Given the description of an element on the screen output the (x, y) to click on. 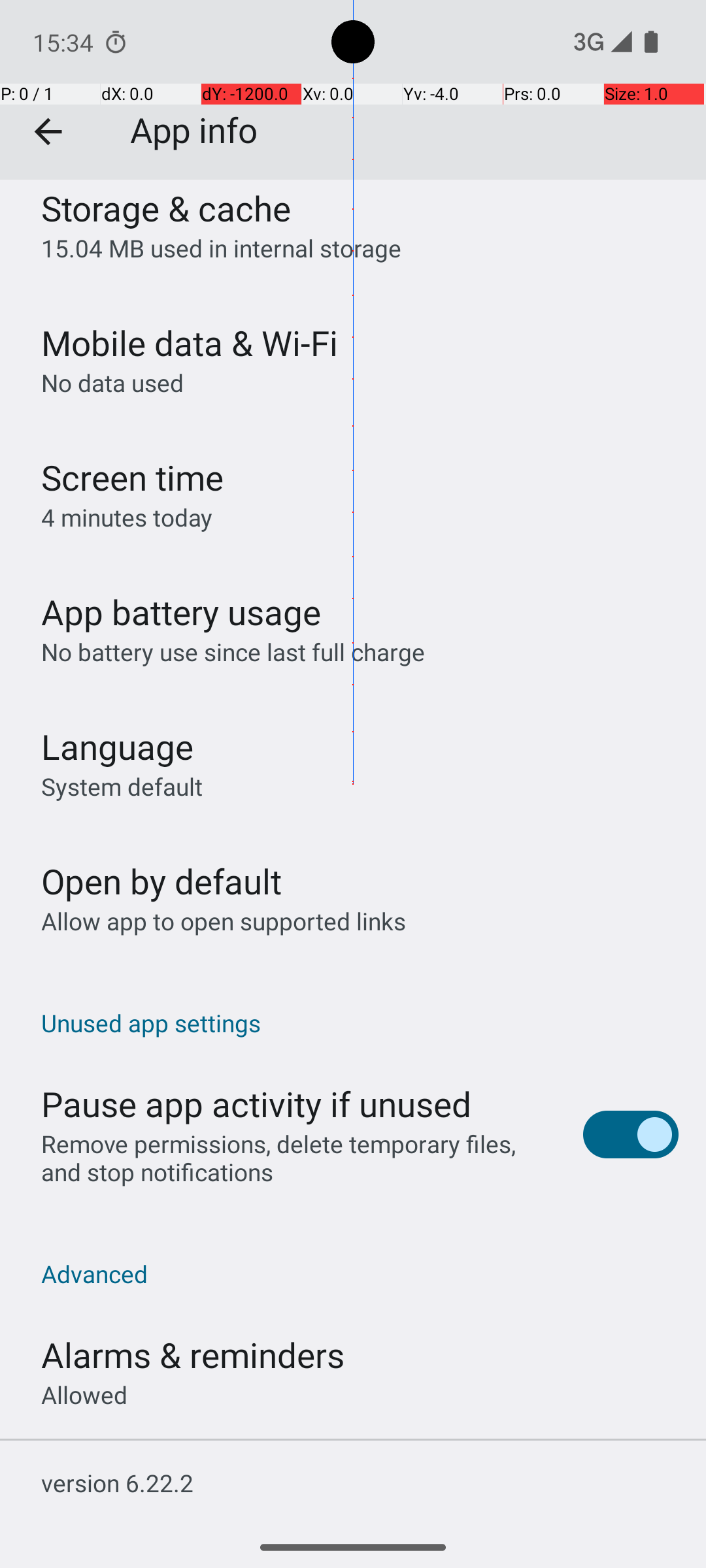
15.04 MB used in internal storage Element type: android.widget.TextView (221, 247)
4 minutes today Element type: android.widget.TextView (127, 516)
No battery use since last full charge Element type: android.widget.TextView (232, 651)
Open by default Element type: android.widget.TextView (161, 880)
Allow app to open supported links Element type: android.widget.TextView (223, 920)
Unused app settings Element type: android.widget.TextView (359, 1022)
Pause app activity if unused Element type: android.widget.TextView (256, 1103)
Remove permissions, delete temporary files, and stop notifications Element type: android.widget.TextView (298, 1157)
Alarms & reminders Element type: android.widget.TextView (192, 1354)
Allowed Element type: android.widget.TextView (84, 1394)
version 6.22.2 Element type: android.widget.TextView (117, 1482)
